Given the description of an element on the screen output the (x, y) to click on. 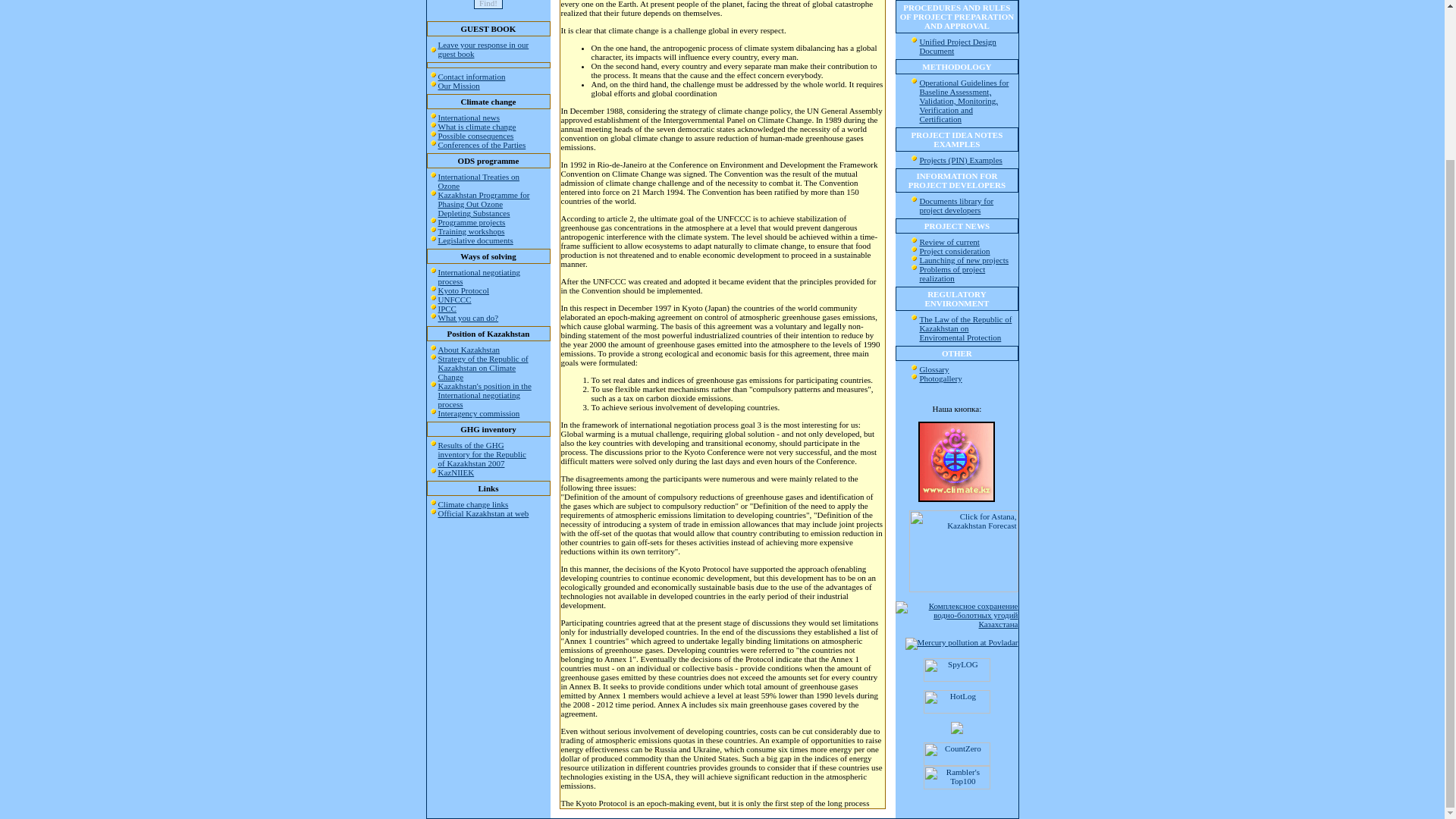
Problems of project realization (951, 273)
Kyoto Protocol (463, 289)
Our Mission (459, 85)
What you can do? (468, 317)
IPCC (447, 307)
Review of current (948, 241)
International news (469, 117)
Conferences of the Parties (481, 144)
